Given the description of an element on the screen output the (x, y) to click on. 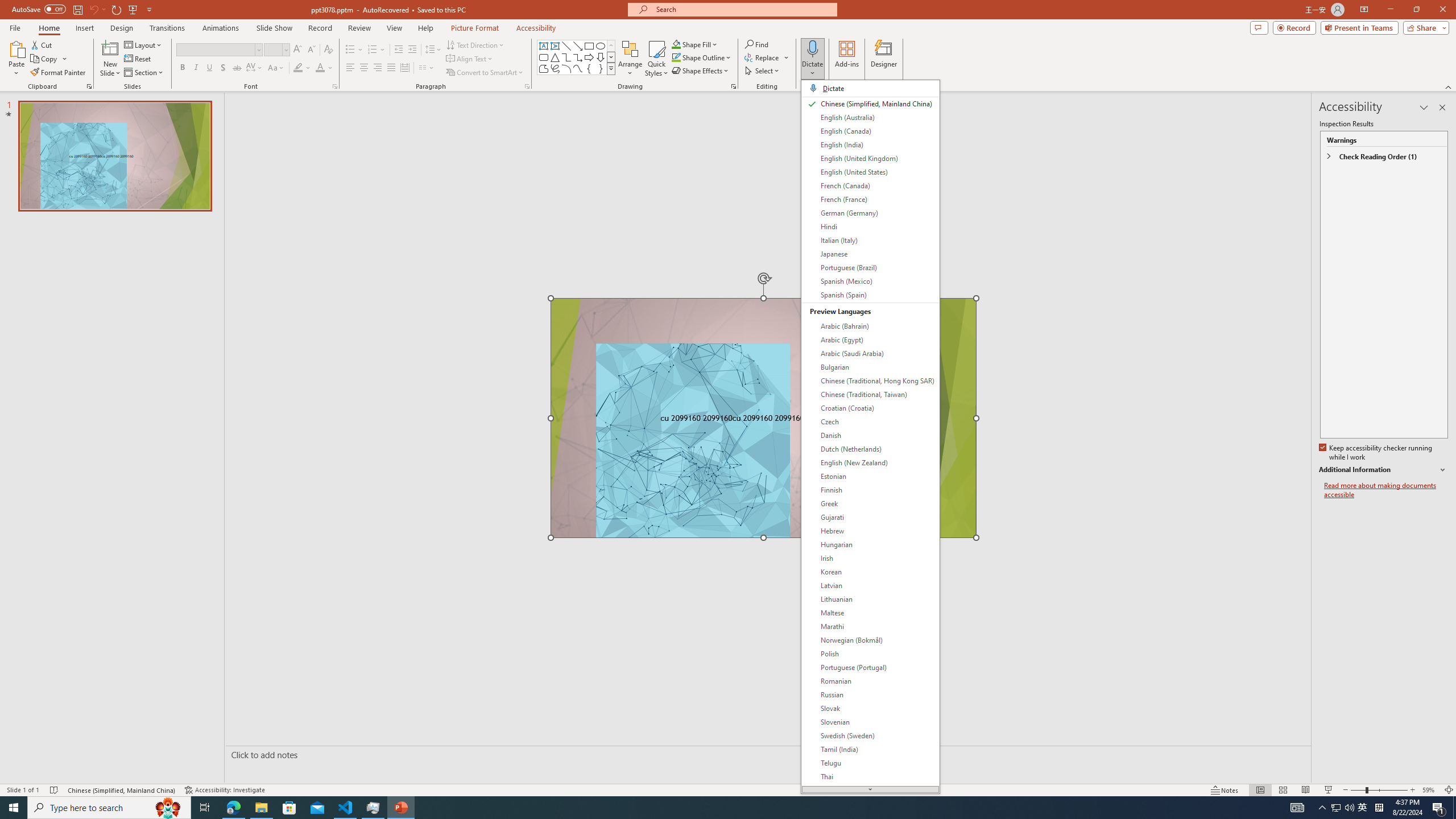
Zoom 59% (1430, 790)
